Given the description of an element on the screen output the (x, y) to click on. 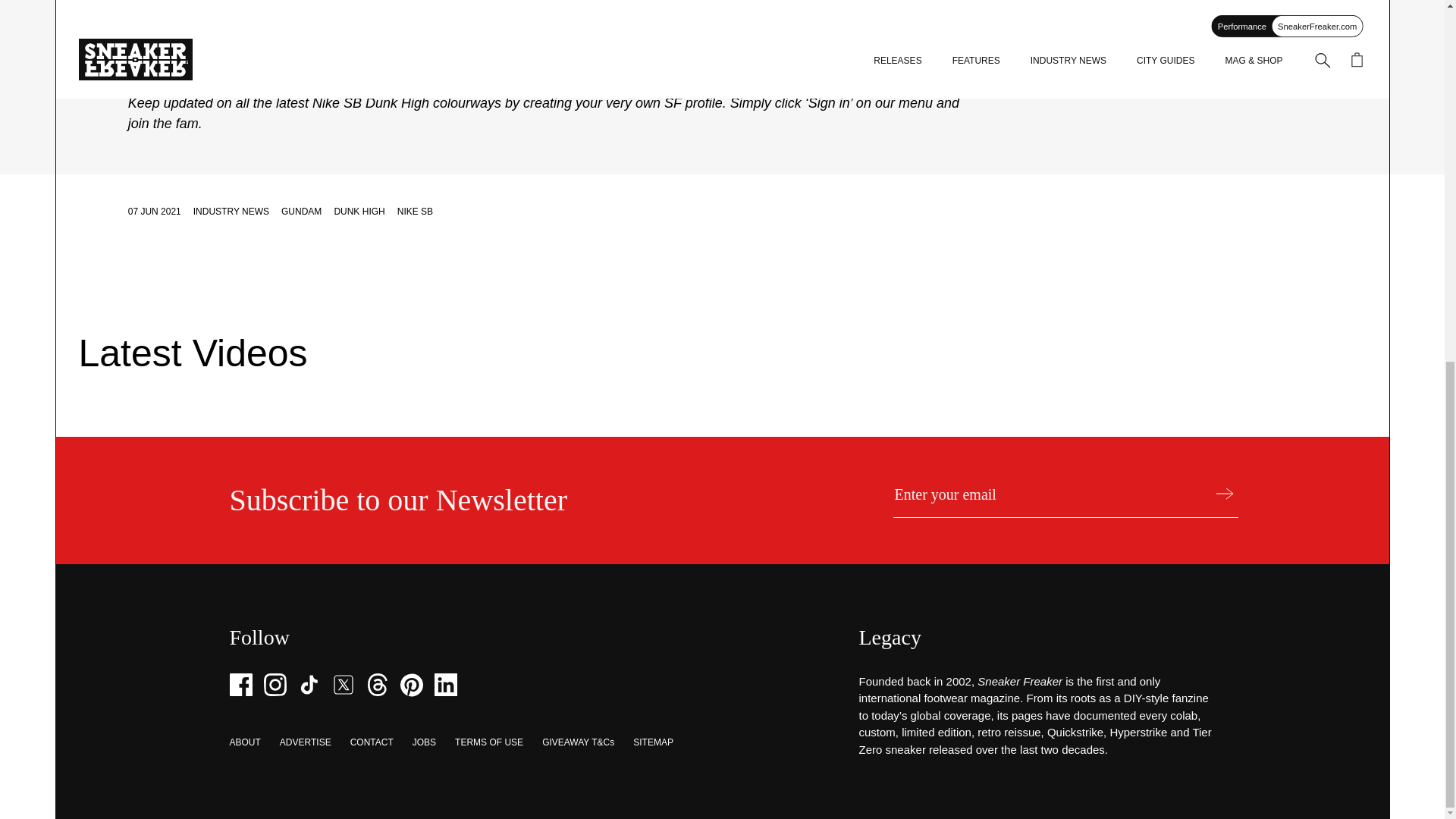
CONTACT (371, 742)
TERMS OF USE (488, 742)
SITEMAP (652, 742)
NIKE SB (414, 211)
DUNK HIGH (358, 211)
JOBS (423, 742)
INDUSTRY NEWS (231, 211)
GUNDAM (301, 211)
ADVERTISE (305, 742)
ABOUT (244, 742)
